Given the description of an element on the screen output the (x, y) to click on. 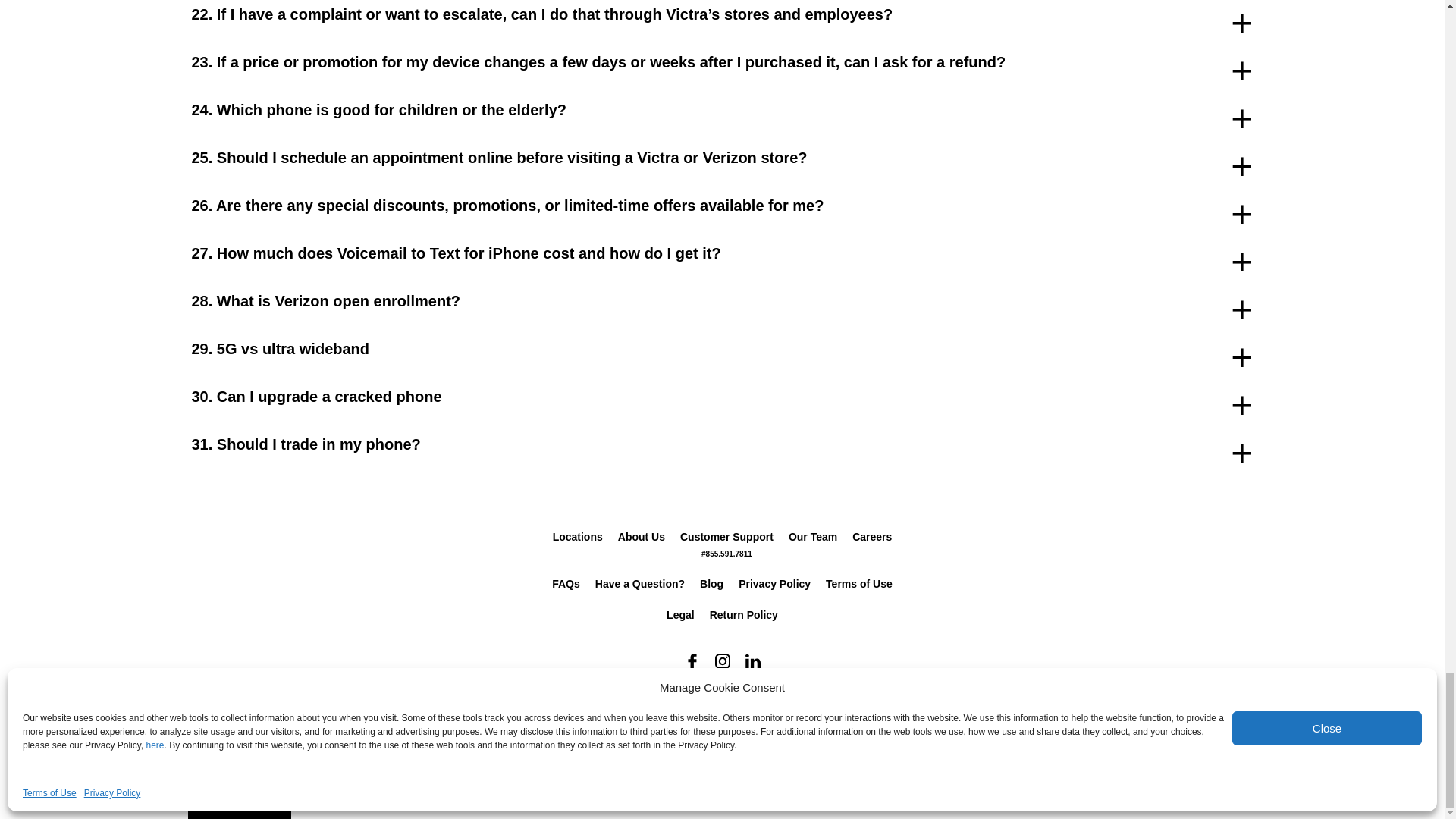
Instagram (721, 661)
Facebook (691, 661)
Linkedin (751, 661)
